Given the description of an element on the screen output the (x, y) to click on. 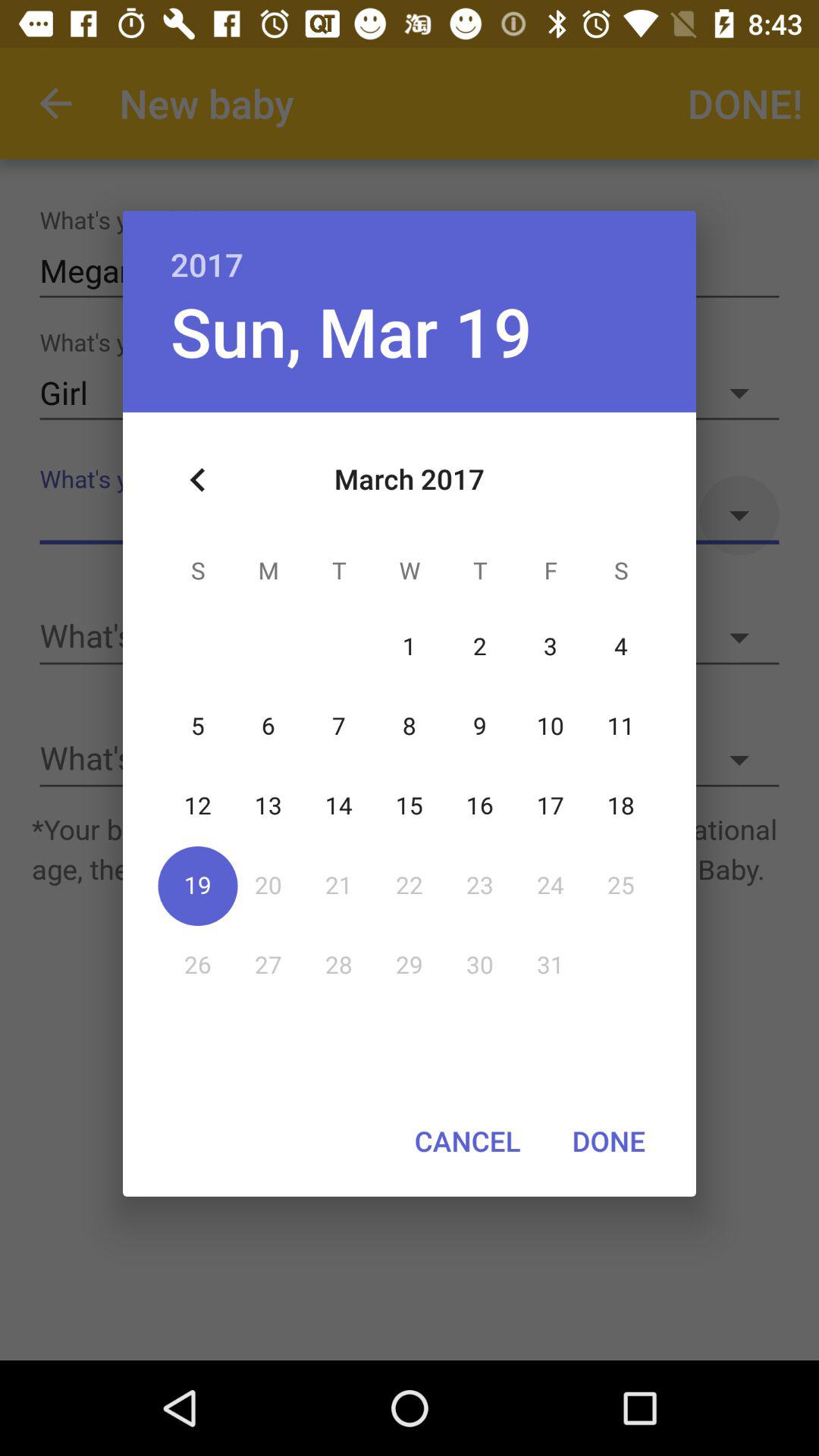
swipe until cancel (467, 1140)
